Given the description of an element on the screen output the (x, y) to click on. 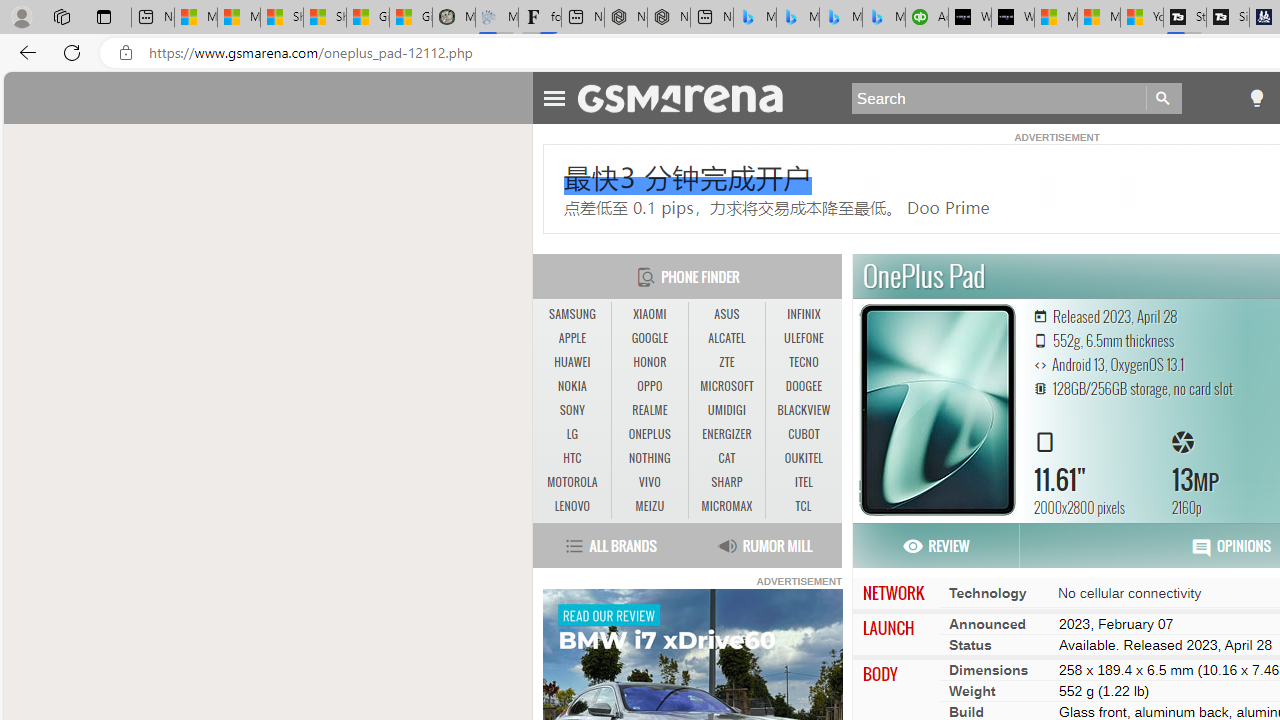
ONEPLUS (649, 434)
MICROMAX (726, 506)
TCL (803, 506)
GOOGLE (649, 339)
AutomationID: anchor (689, 97)
OPPO (649, 385)
CUBOT (803, 434)
Build (966, 711)
Go (1163, 97)
MOTOROLA (571, 483)
ULEFONE (803, 338)
